Given the description of an element on the screen output the (x, y) to click on. 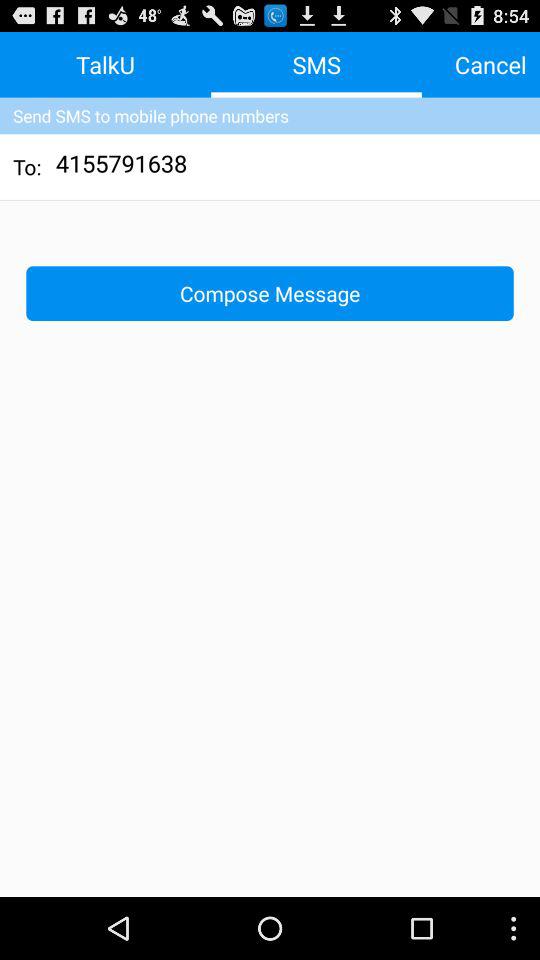
jump to talku item (105, 64)
